Given the description of an element on the screen output the (x, y) to click on. 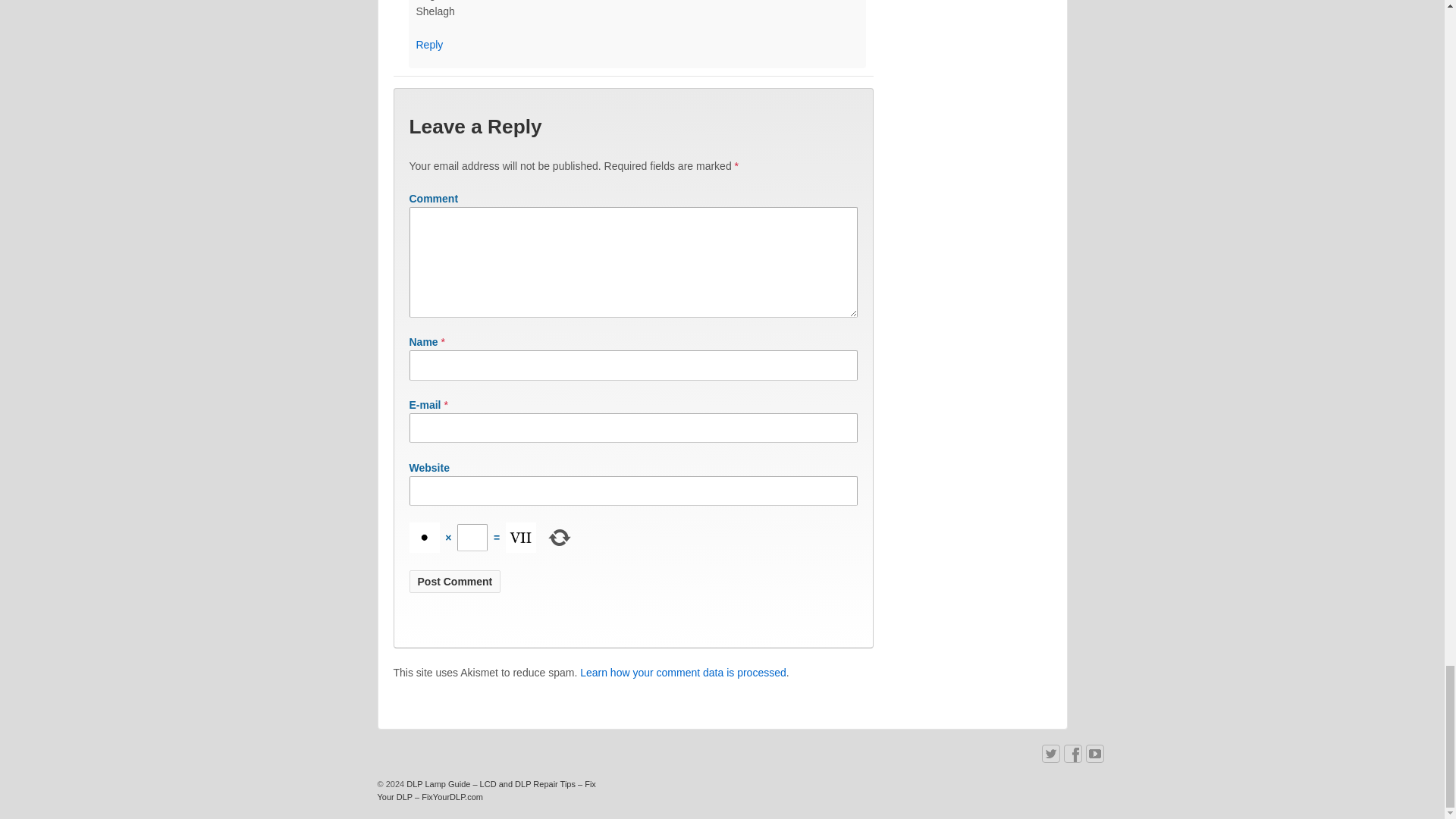
Post Comment (454, 581)
